Given the description of an element on the screen output the (x, y) to click on. 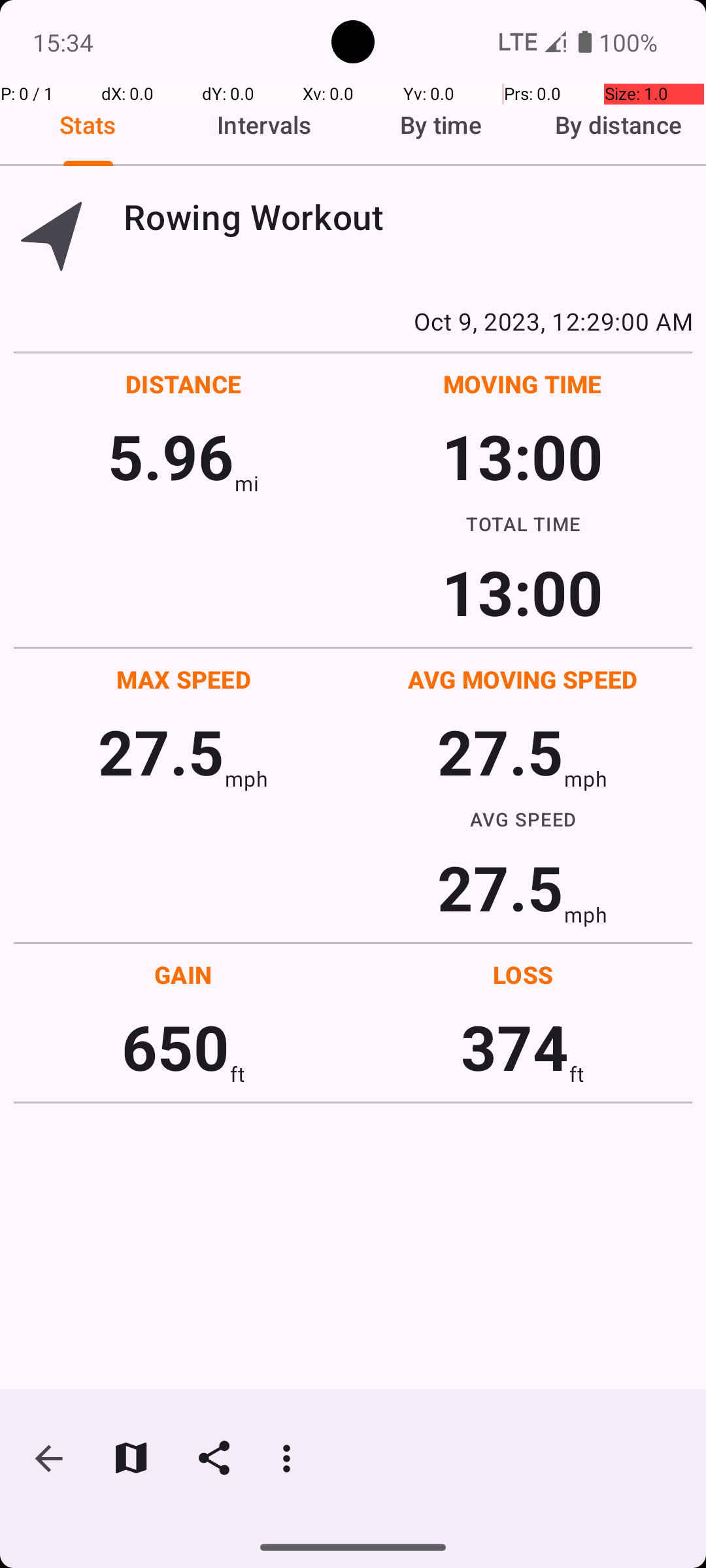
Rowing Workout Element type: android.widget.TextView (407, 216)
Oct 9, 2023, 12:29:00 AM Element type: android.widget.TextView (352, 320)
5.96 Element type: android.widget.TextView (170, 455)
27.5 Element type: android.widget.TextView (161, 750)
650 Element type: android.widget.TextView (175, 1045)
374 Element type: android.widget.TextView (514, 1045)
